Given the description of an element on the screen output the (x, y) to click on. 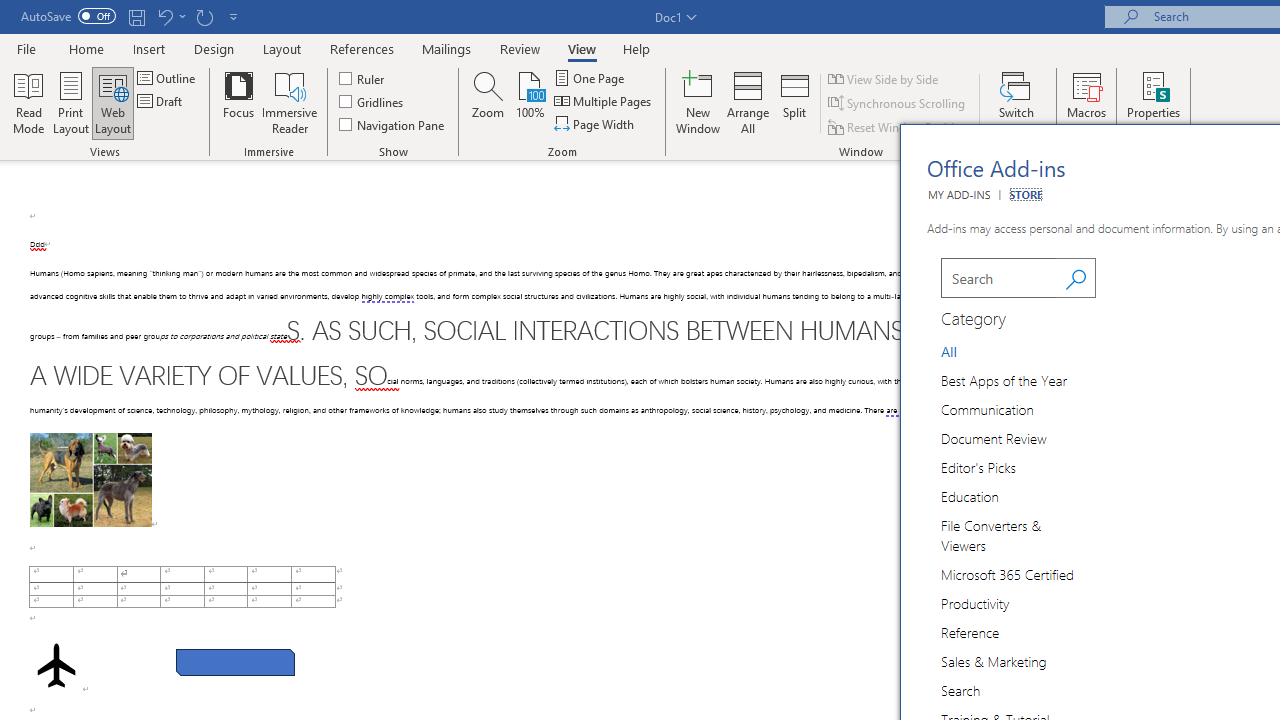
Category Group File Converters & Viewers 7 of 14 (1017, 534)
Synchronous Scrolling (898, 103)
Draft (161, 101)
Morphological variation in six dogs (90, 479)
Outline (168, 78)
Repeat Paragraph Alignment (204, 15)
STORE (1025, 194)
Rectangle: Diagonal Corners Snipped 2 (235, 662)
MY ADD-INS (958, 194)
Category Group Search 12 of 14 (964, 689)
Split (795, 102)
